Given the description of an element on the screen output the (x, y) to click on. 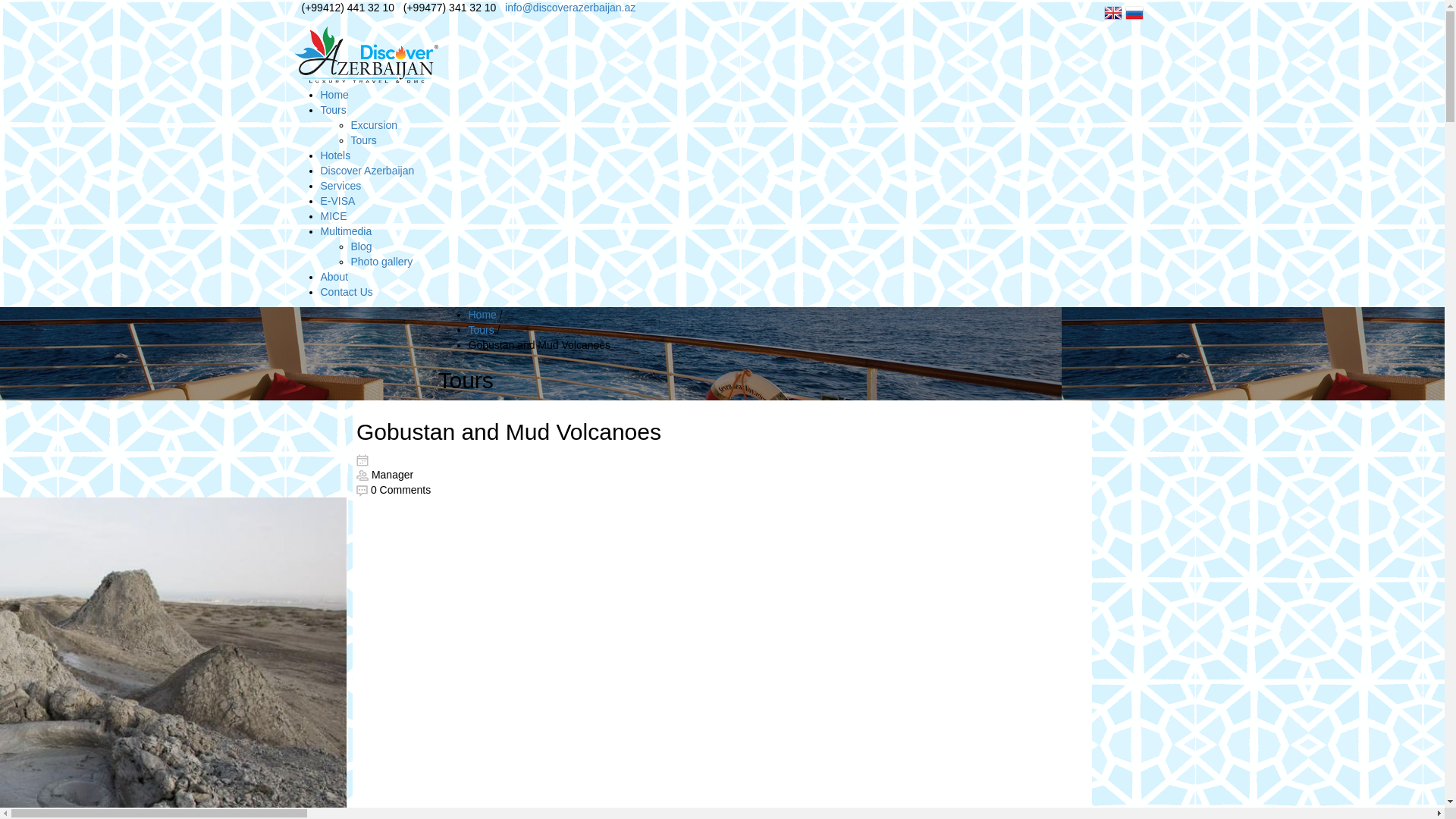
Tours Element type: text (363, 140)
Blog Element type: text (360, 246)
Tours Element type: text (332, 109)
Tours Element type: text (481, 329)
Photo gallery Element type: text (381, 261)
Multimedia Element type: text (345, 231)
Discover Azerbaijan Element type: text (367, 170)
Home Element type: text (334, 94)
Hotels Element type: text (335, 155)
Home Element type: text (482, 314)
Services Element type: text (340, 185)
About Element type: text (334, 276)
E-VISA Element type: text (337, 200)
MICE Element type: text (333, 216)
Contact Us Element type: text (346, 291)
Excursion Element type: text (373, 125)
info@discoverazerbaijan.az Element type: text (570, 7)
